Given the description of an element on the screen output the (x, y) to click on. 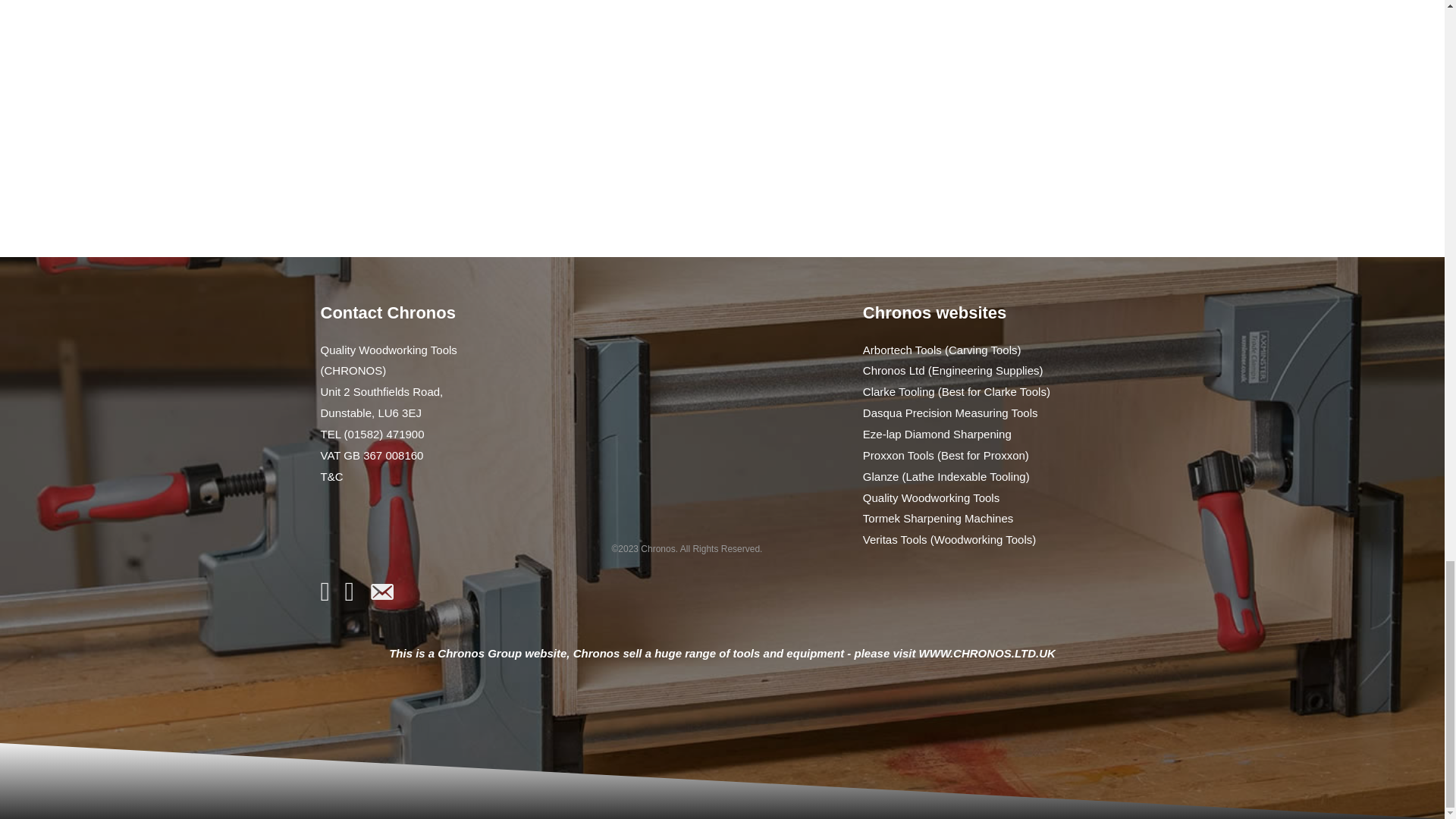
Payments by Sage Pay (415, 531)
